Given the description of an element on the screen output the (x, y) to click on. 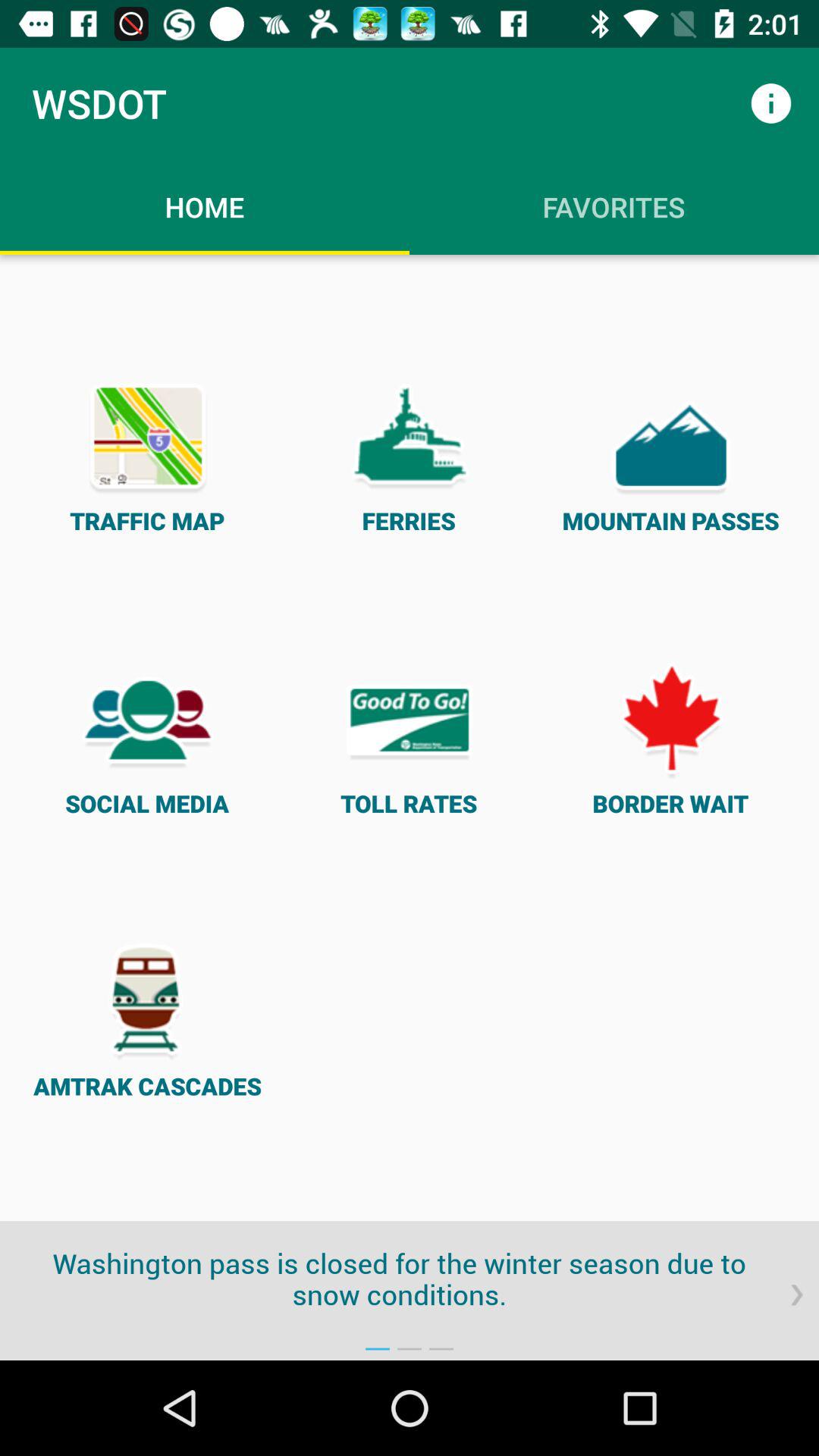
click the mountain passes icon (670, 455)
